Given the description of an element on the screen output the (x, y) to click on. 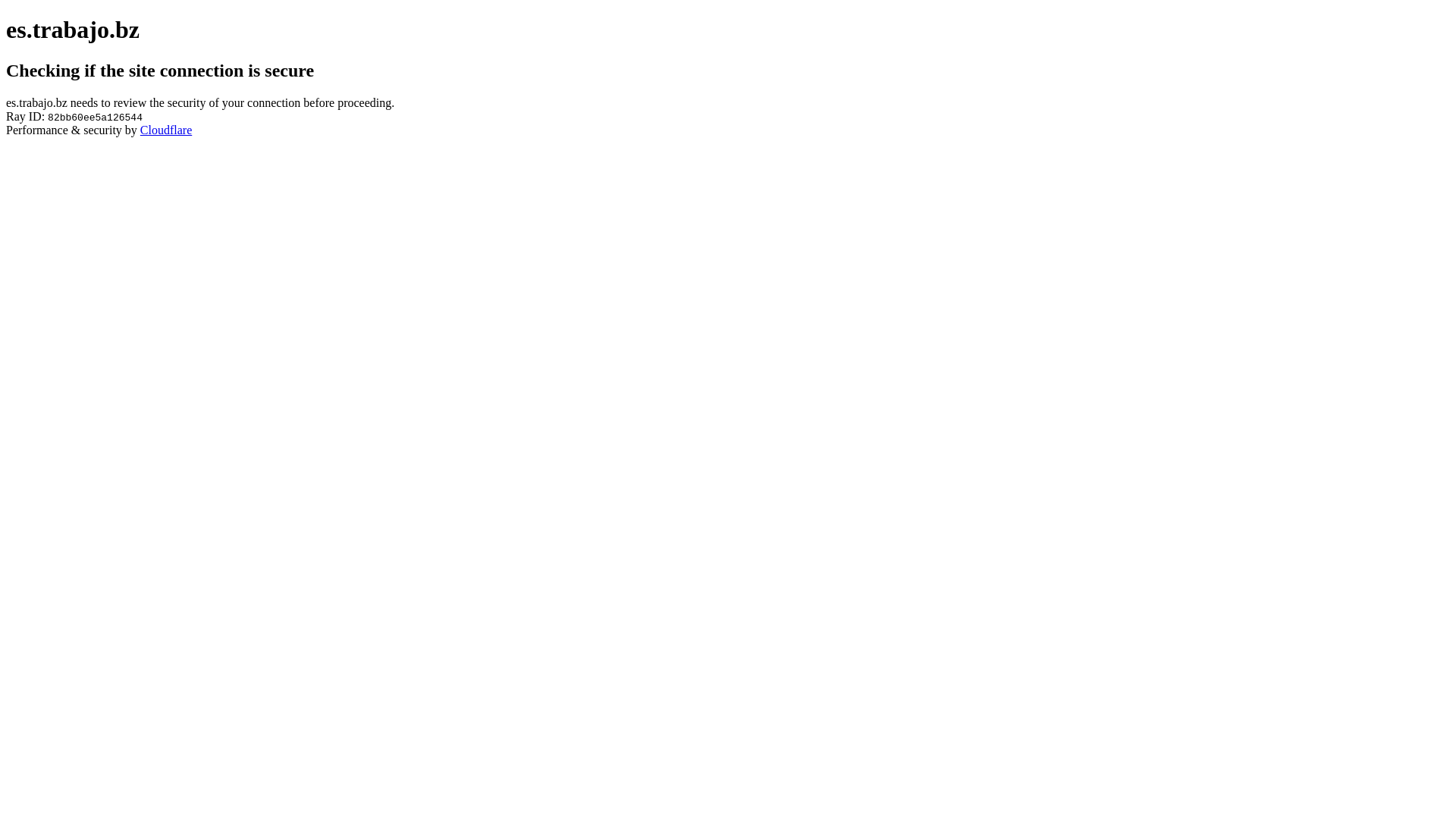
Cloudflare Element type: text (165, 129)
